Given the description of an element on the screen output the (x, y) to click on. 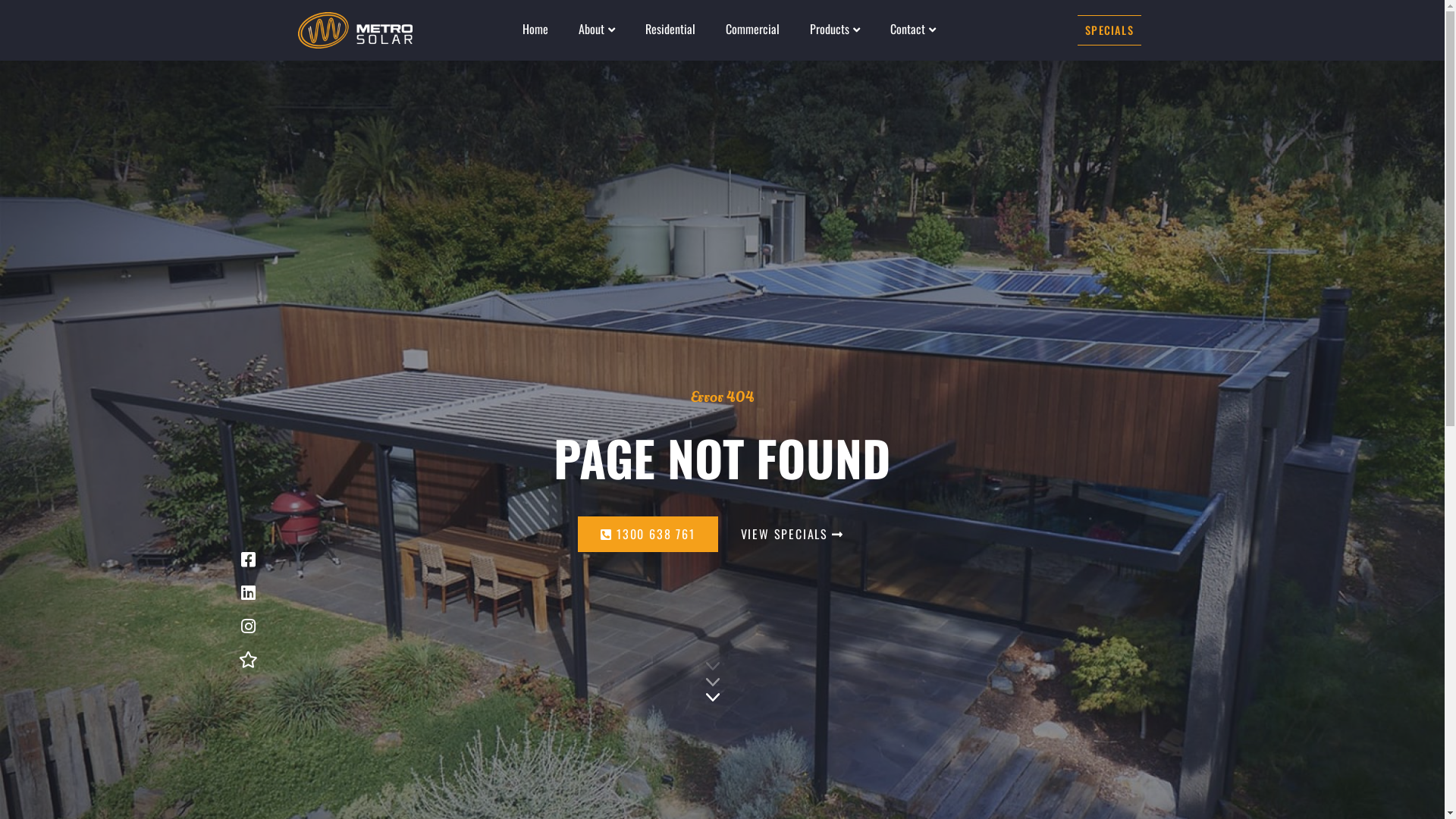
Home Element type: text (535, 28)
VIEW SPECIALS Element type: text (792, 534)
1300 638 761 Element type: text (647, 534)
a95d75ca-arrow-down.png Element type: hover (712, 680)
Contact Element type: text (912, 28)
Commercial Element type: text (752, 28)
SPECIALS Element type: text (1109, 30)
About Element type: text (596, 28)
Products Element type: text (834, 28)
Residential Element type: text (670, 28)
